Given the description of an element on the screen output the (x, y) to click on. 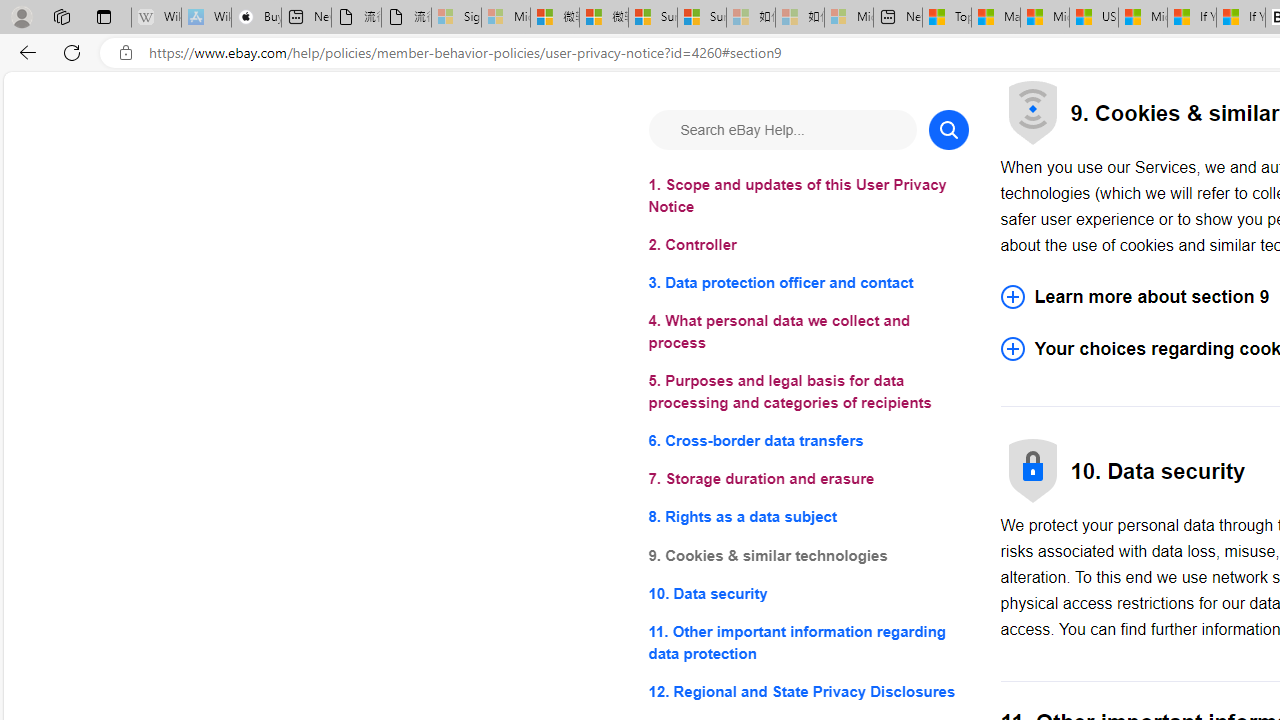
Search eBay Help... (781, 129)
